Given the description of an element on the screen output the (x, y) to click on. 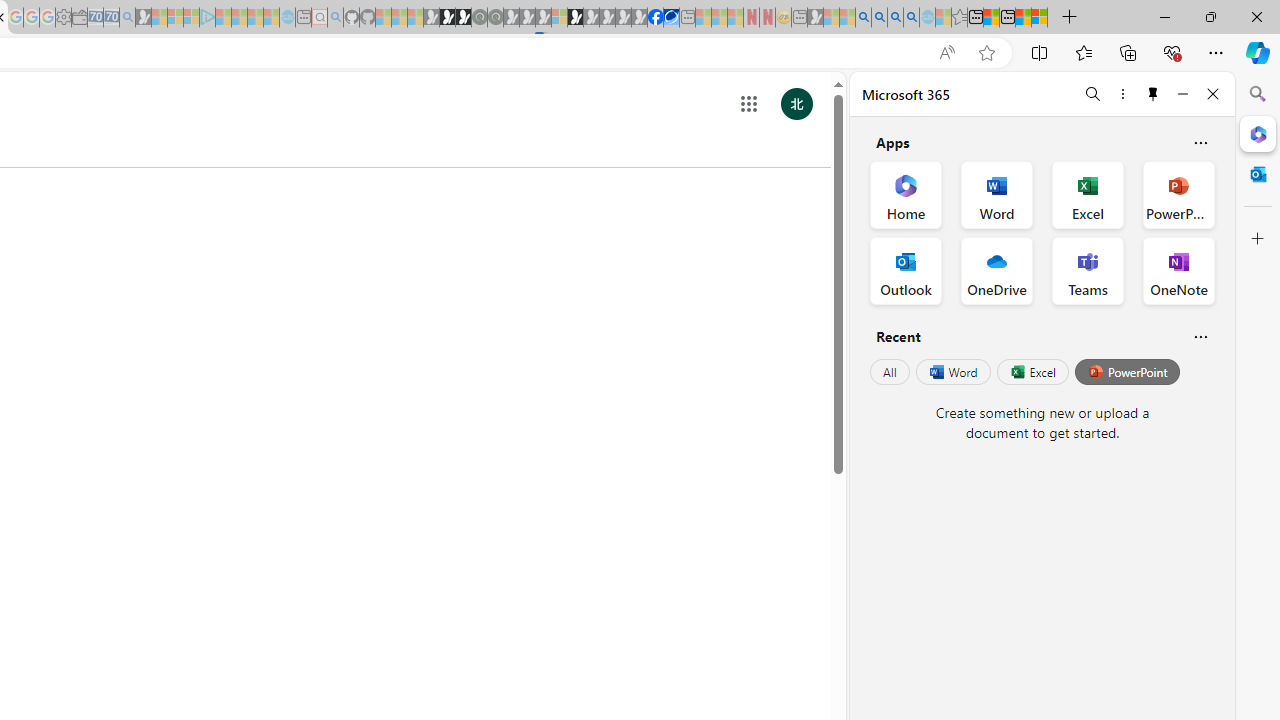
Settings - Sleeping (63, 17)
Outlook Office App (906, 270)
Word (952, 372)
Sign in to your account - Sleeping (559, 17)
